Given the description of an element on the screen output the (x, y) to click on. 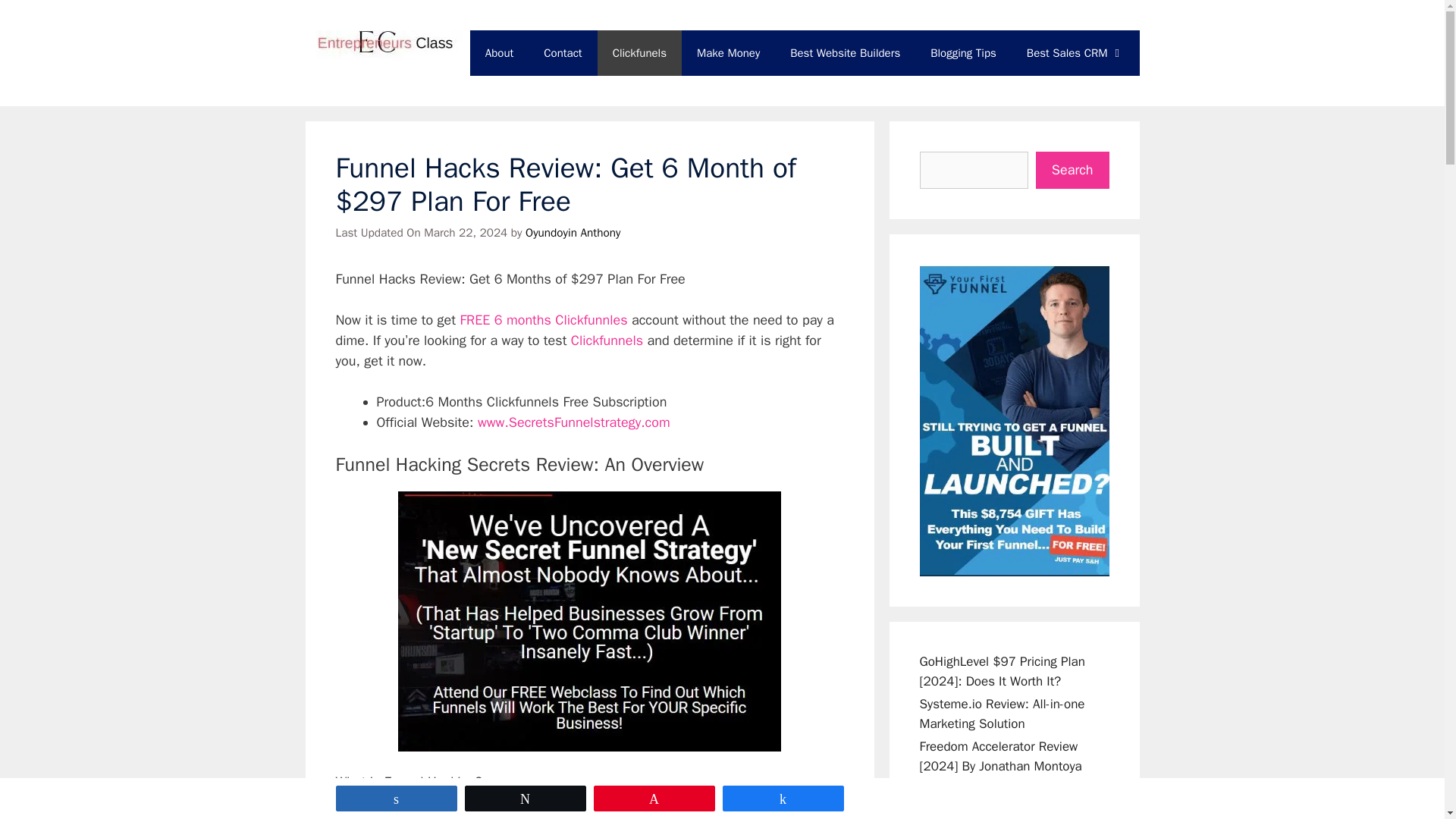
Clickfunels (638, 53)
View all posts by Oyundoyin Anthony (572, 232)
About (499, 53)
Clickfunnels (606, 340)
Contact (562, 53)
www.SecretsFunnelstrategy.com  (575, 422)
Best Sales CRM (1075, 53)
Oyundoyin Anthony (572, 232)
Make Money (727, 53)
Best Website Builders (844, 53)
FREE 6 months Clickfunnles (543, 320)
Blogging Tips (963, 53)
